Given the description of an element on the screen output the (x, y) to click on. 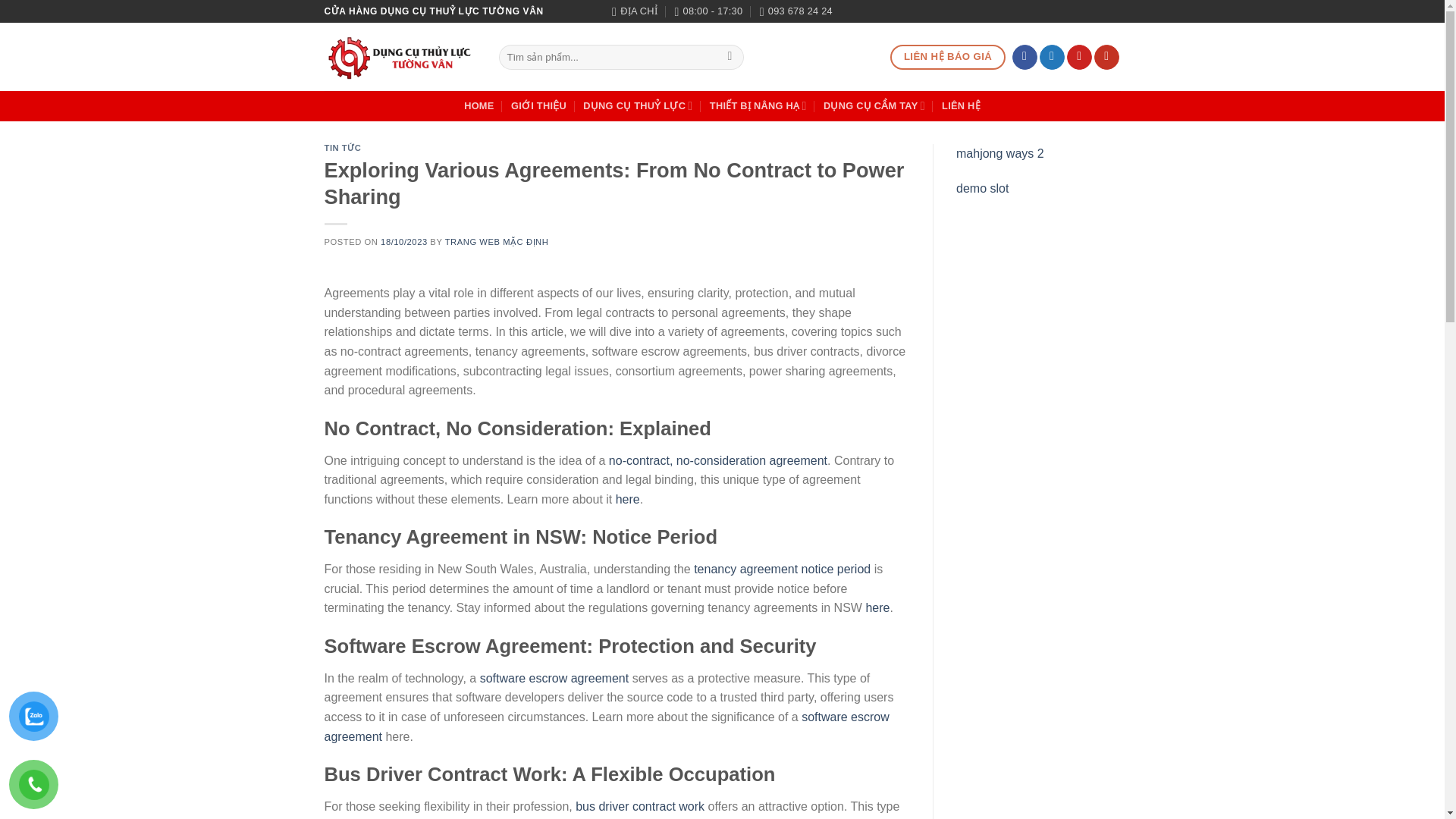
Follow on YouTube (1106, 57)
093 678 24 24 (796, 11)
093 678 24 24 (796, 11)
Follow on Twitter (1051, 57)
HOME (478, 105)
08:00 - 17:30  (708, 11)
Follow on Pinterest (1079, 57)
08:00 - 17:30 (708, 11)
Follow on Facebook (1023, 57)
